Given the description of an element on the screen output the (x, y) to click on. 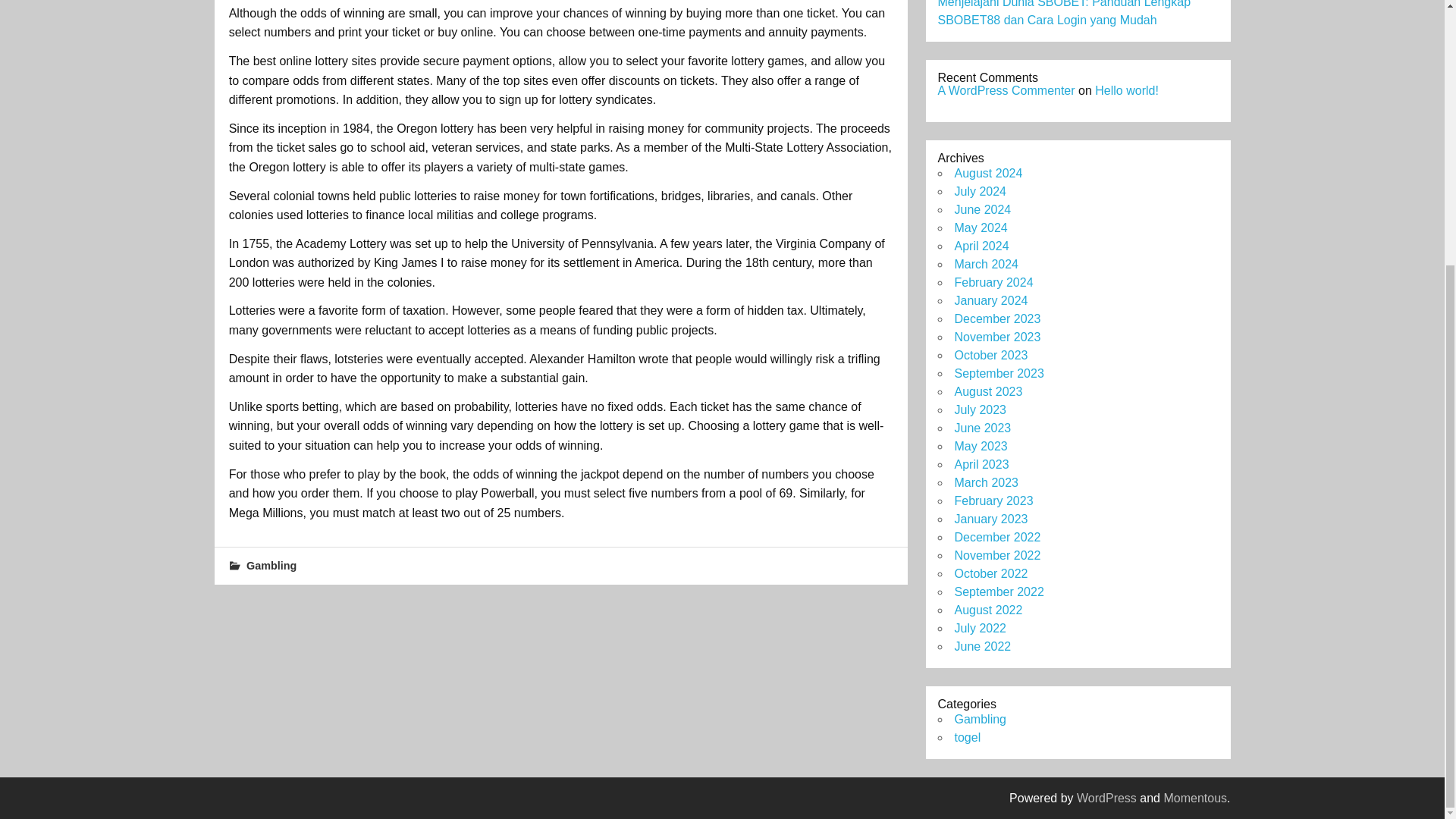
November 2022 (997, 554)
September 2022 (998, 591)
January 2024 (990, 300)
May 2024 (980, 227)
March 2024 (985, 264)
November 2023 (997, 336)
Gambling (271, 565)
Momentous WordPress Theme (1195, 797)
June 2023 (981, 427)
